Given the description of an element on the screen output the (x, y) to click on. 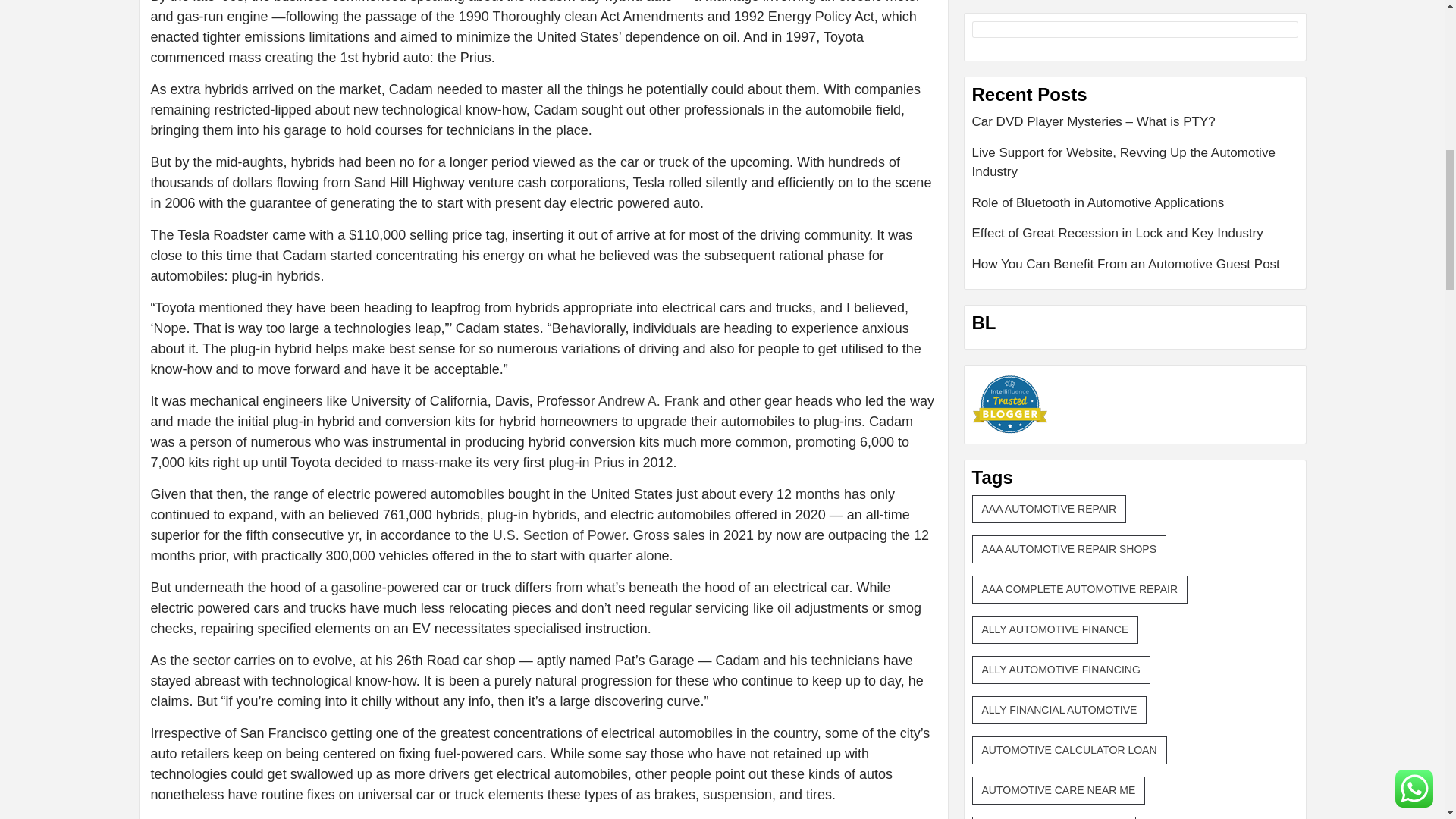
U.S. Section of Power (559, 534)
Andrew A. Frank (648, 400)
